Given the description of an element on the screen output the (x, y) to click on. 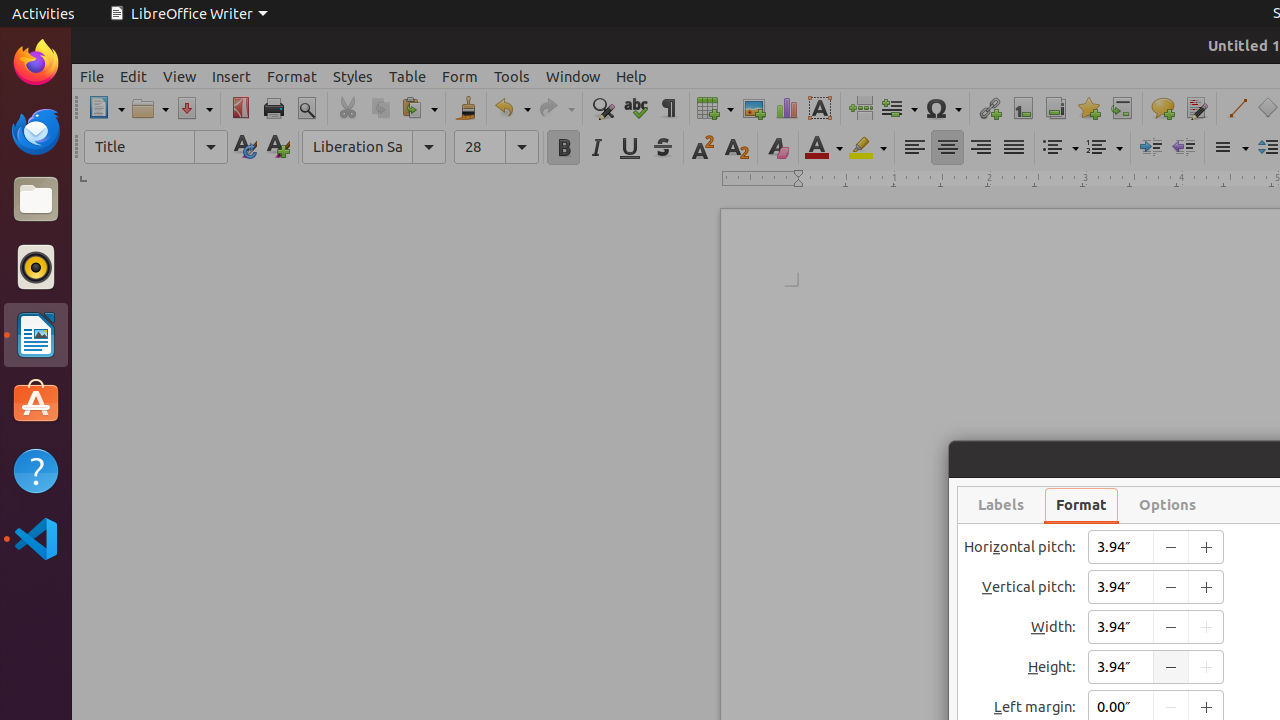
Visual Studio Code Element type: push-button (36, 538)
Firefox Web Browser Element type: push-button (36, 63)
LibreOffice Writer Element type: push-button (36, 334)
Rhythmbox Element type: push-button (36, 267)
Help Element type: push-button (36, 470)
